Given the description of an element on the screen output the (x, y) to click on. 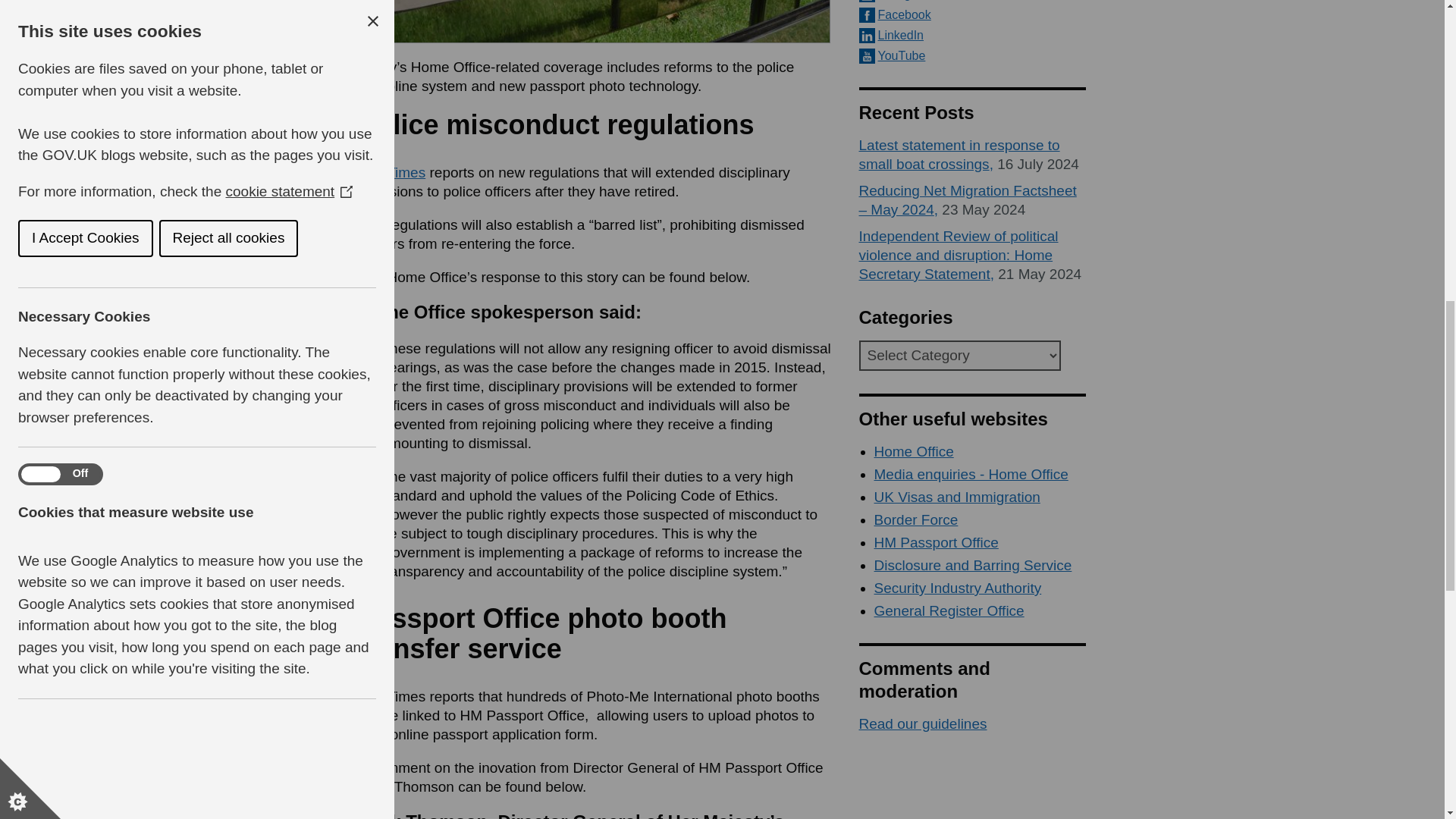
Facebook (972, 14)
Home Office (913, 451)
UK Visas and Immigration (956, 496)
The Times (391, 172)
Border Force (915, 519)
LinkedIn (972, 35)
Media enquiries - Home Office (970, 474)
Latest statement in response to small boat crossings (959, 154)
HM Passport Office (935, 542)
YouTube (972, 55)
